Given the description of an element on the screen output the (x, y) to click on. 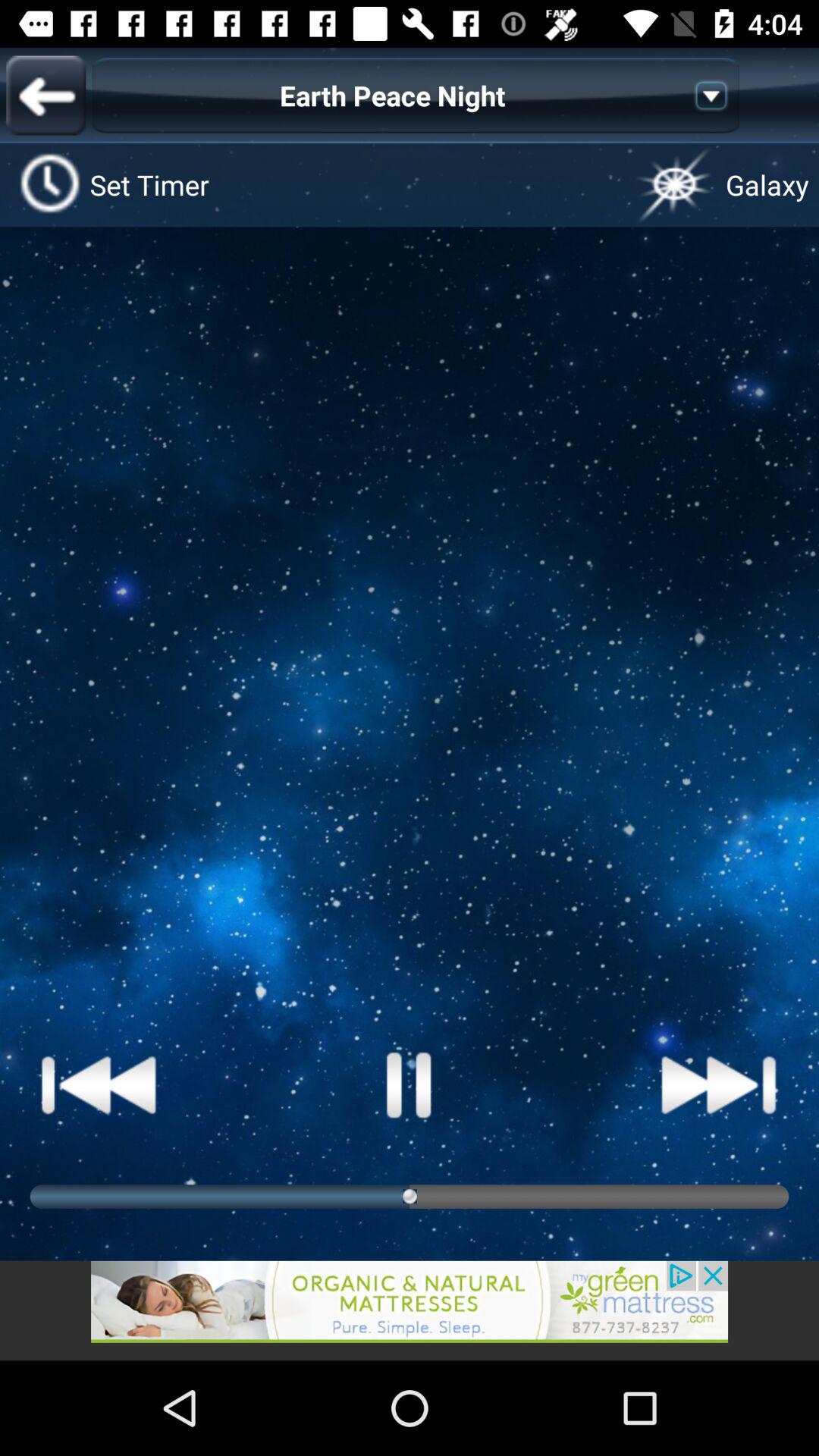
stop playing button (409, 1084)
